Given the description of an element on the screen output the (x, y) to click on. 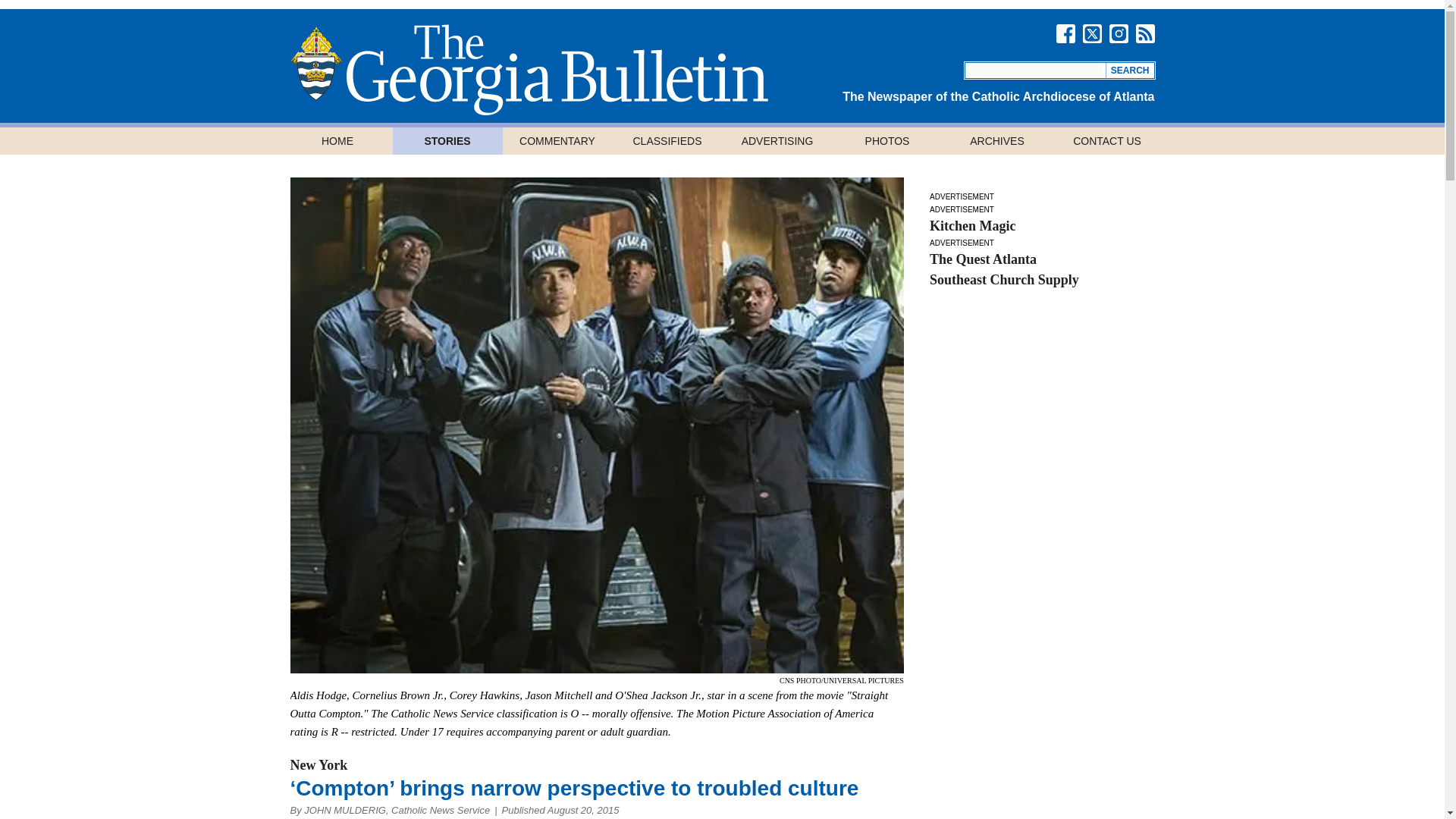
HOME (336, 140)
Read more articles from New York (318, 765)
Follow us on Twitter (1092, 33)
CLASSIFIEDS (667, 140)
Search (1129, 70)
ADVERTISING (776, 140)
Search (1129, 70)
Georgia Bulletin (528, 69)
COMMENTARY (556, 140)
PHOTOS (887, 140)
Follow us on Instagram (1117, 33)
Grab our RSS Feed (1144, 33)
STORIES (447, 140)
Find us on Facebook (1064, 33)
